Given the description of an element on the screen output the (x, y) to click on. 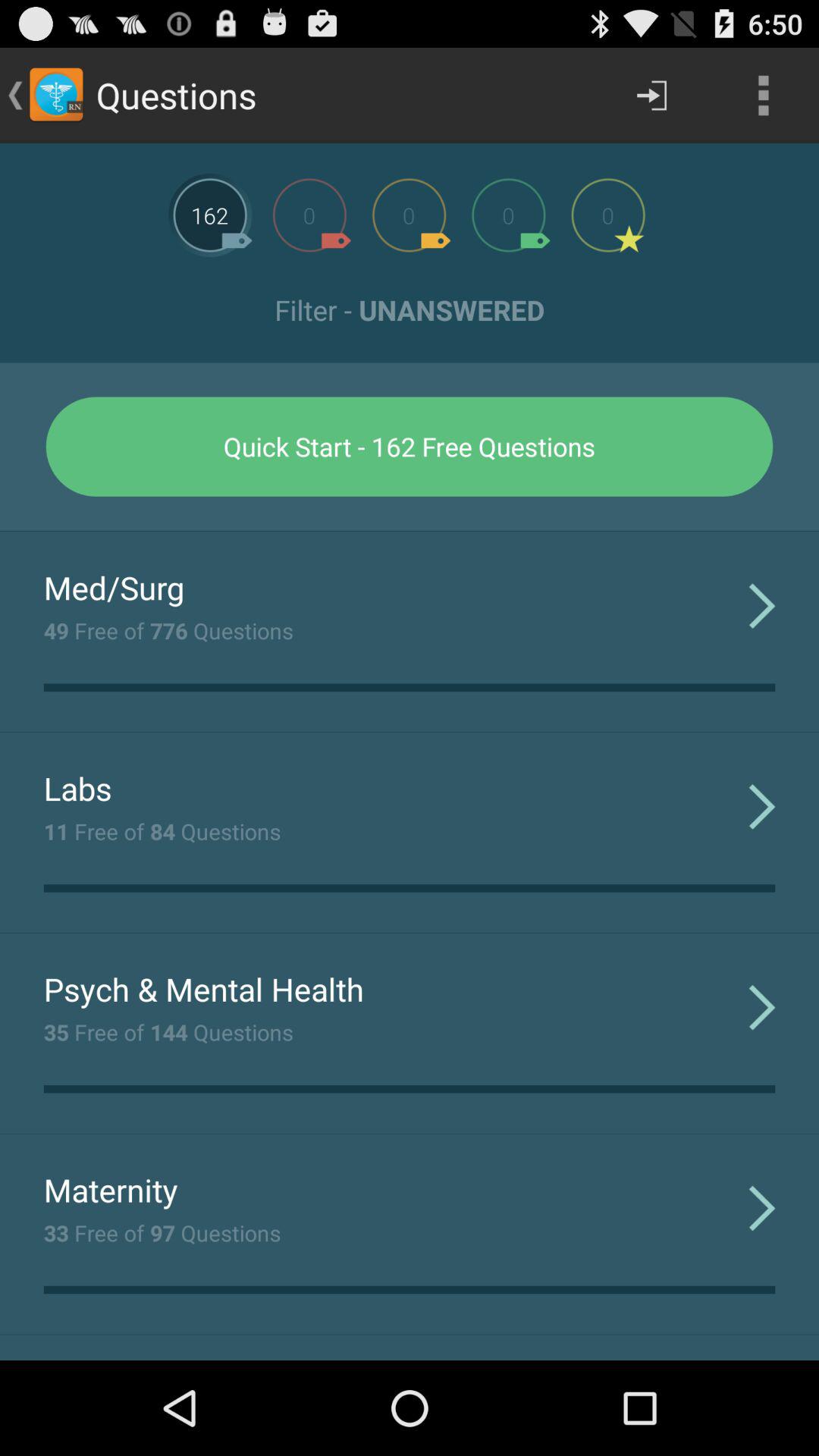
launch icon above the 33 free of (110, 1189)
